Given the description of an element on the screen output the (x, y) to click on. 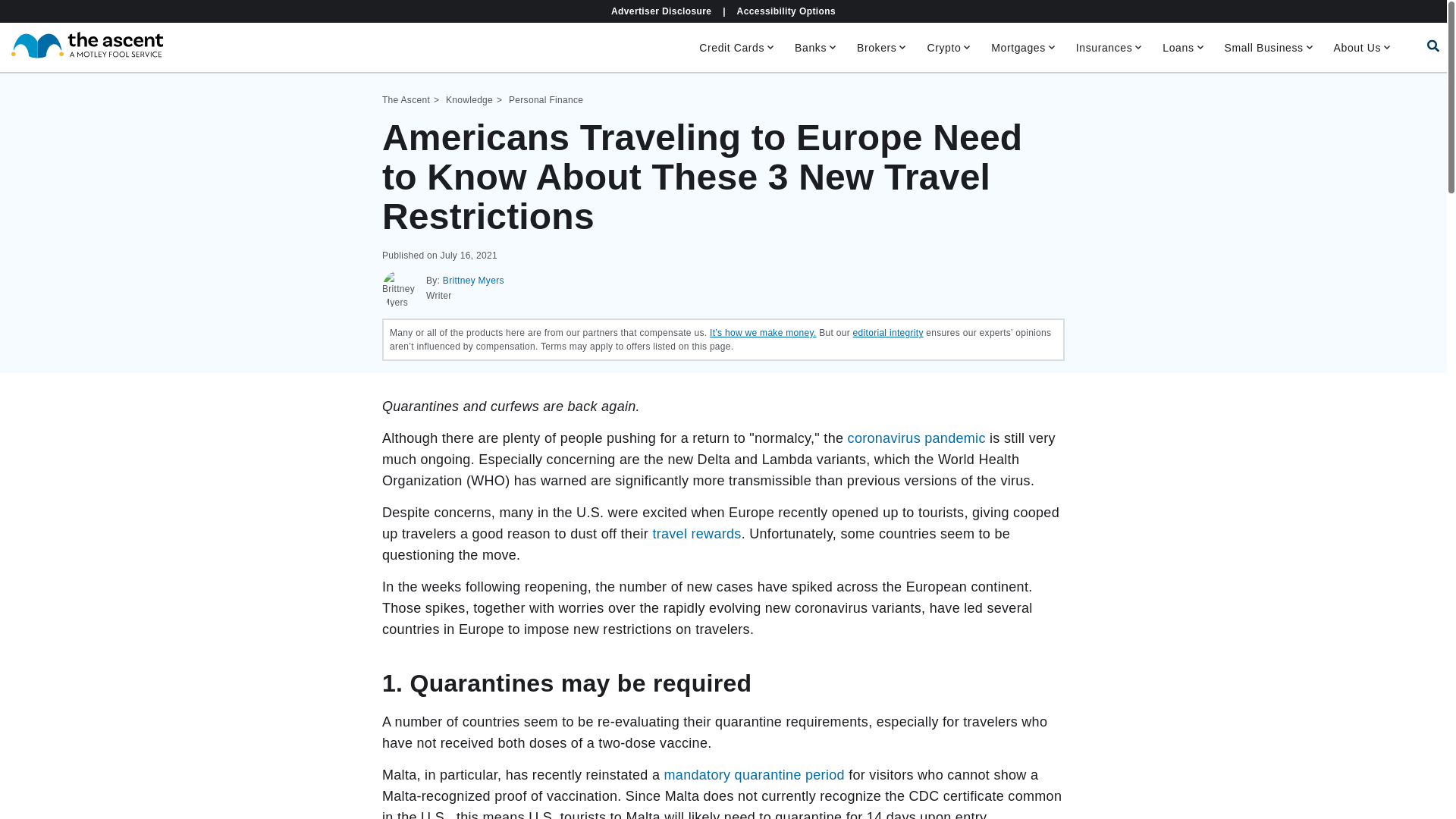
Search Icon Click here to search (1432, 45)
